Given the description of an element on the screen output the (x, y) to click on. 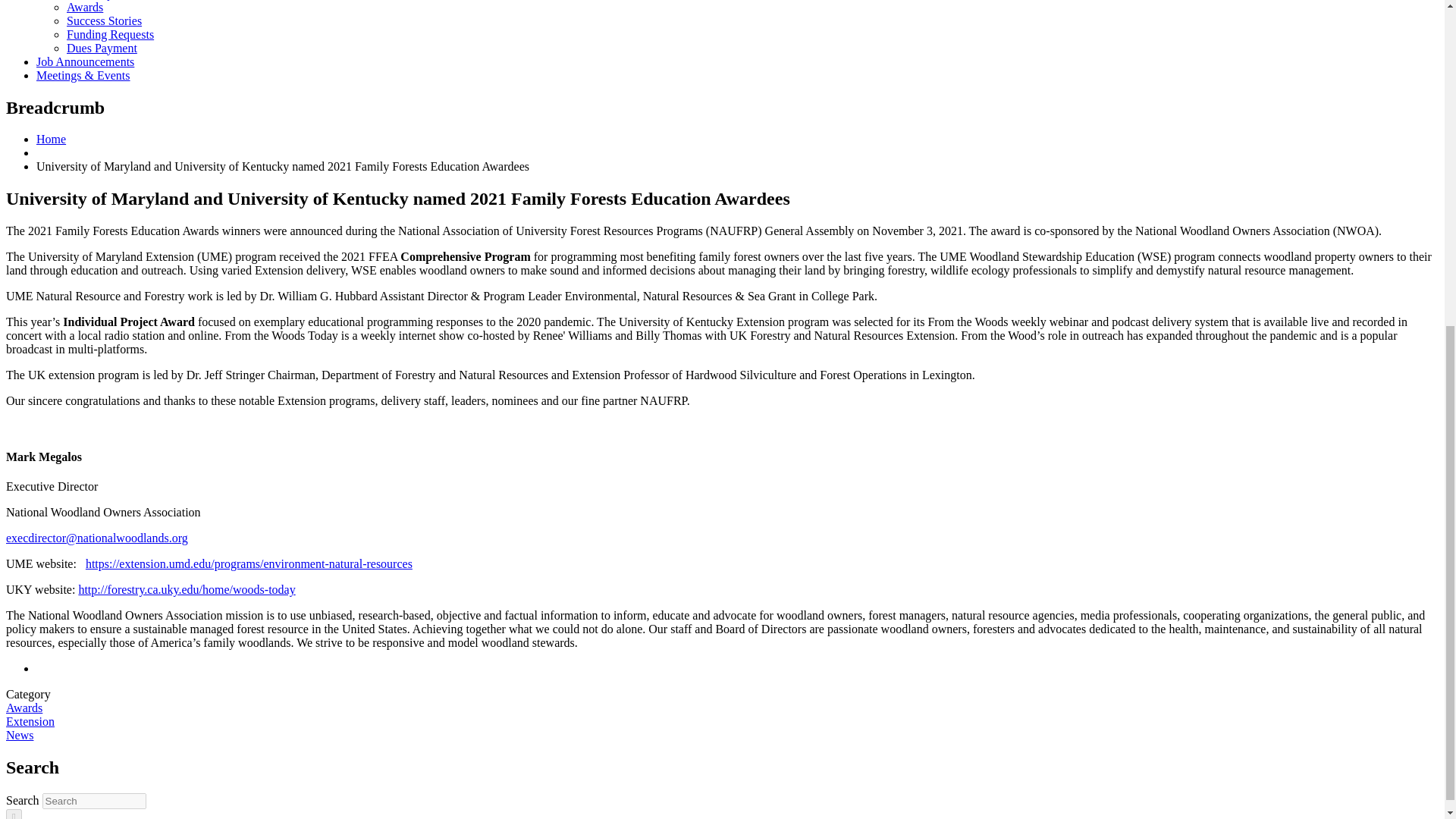
Success Stories (103, 20)
Dues Payment (101, 47)
Enter the terms you wish to search for. (94, 801)
Funding Requests (110, 33)
Awards (84, 6)
Home (50, 138)
Job Announcements (84, 61)
